Given the description of an element on the screen output the (x, y) to click on. 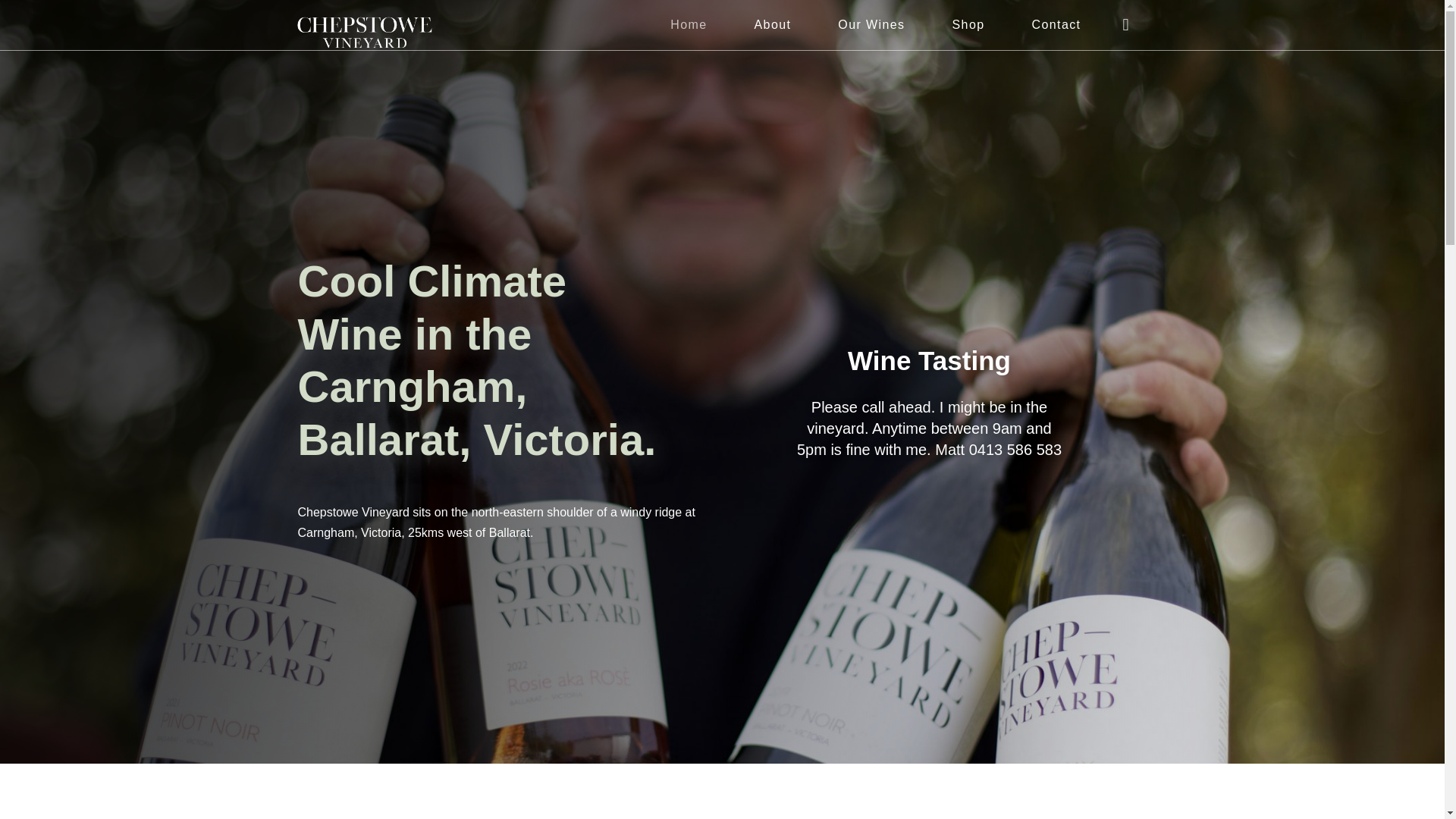
Shop (968, 24)
Our Wines (870, 24)
About (772, 24)
Home (688, 24)
Contact (1055, 24)
